Given the description of an element on the screen output the (x, y) to click on. 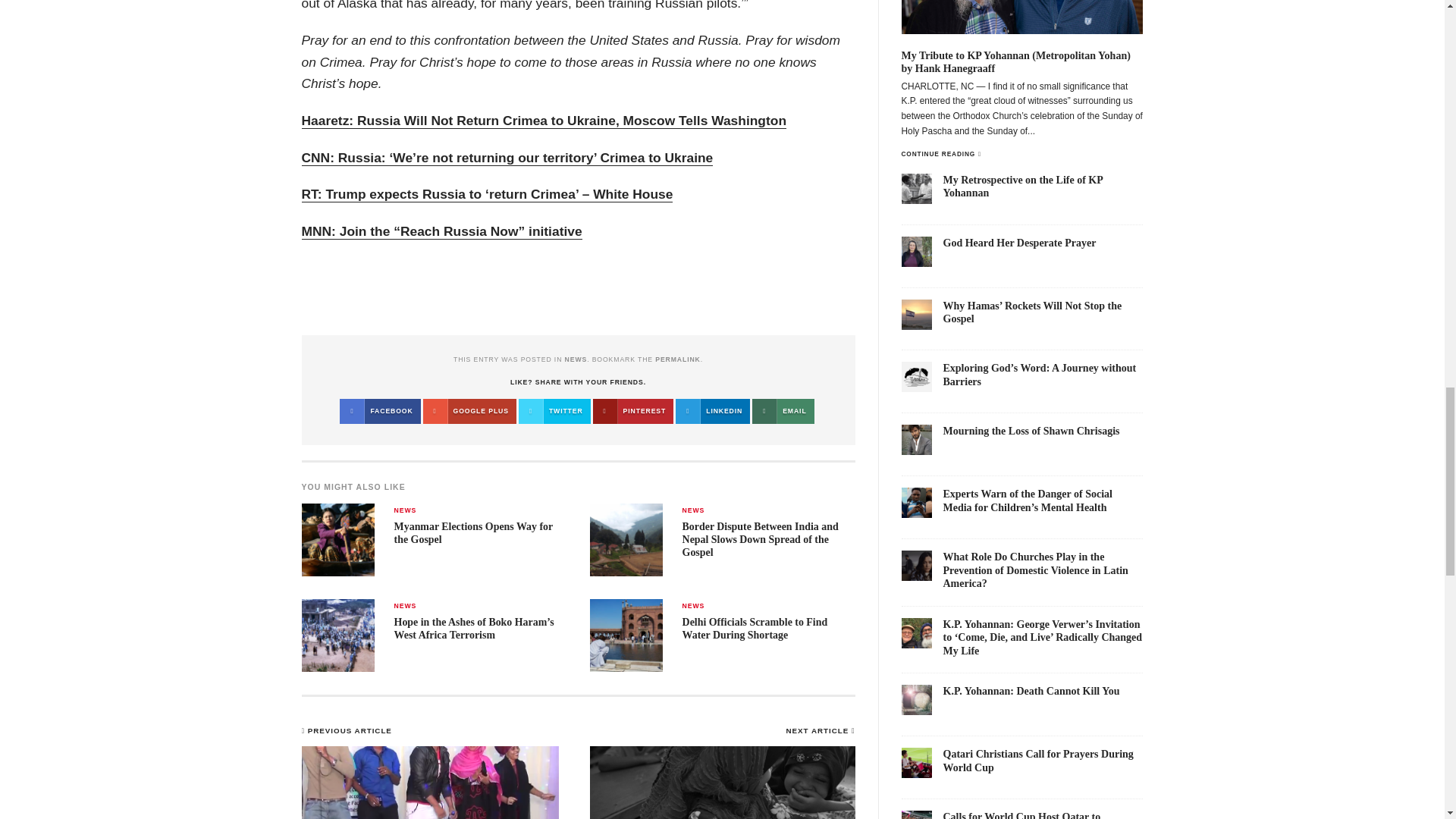
LINKEDIN (712, 411)
FACEBOOK (379, 411)
NEWS (405, 509)
PERMALINK (677, 359)
EMAIL (782, 411)
TWITTER (554, 411)
NEWS (576, 359)
Myanmar Elections Opens Way for the Gospel (473, 532)
PINTEREST (633, 411)
GOOGLE PLUS (469, 411)
